Given the description of an element on the screen output the (x, y) to click on. 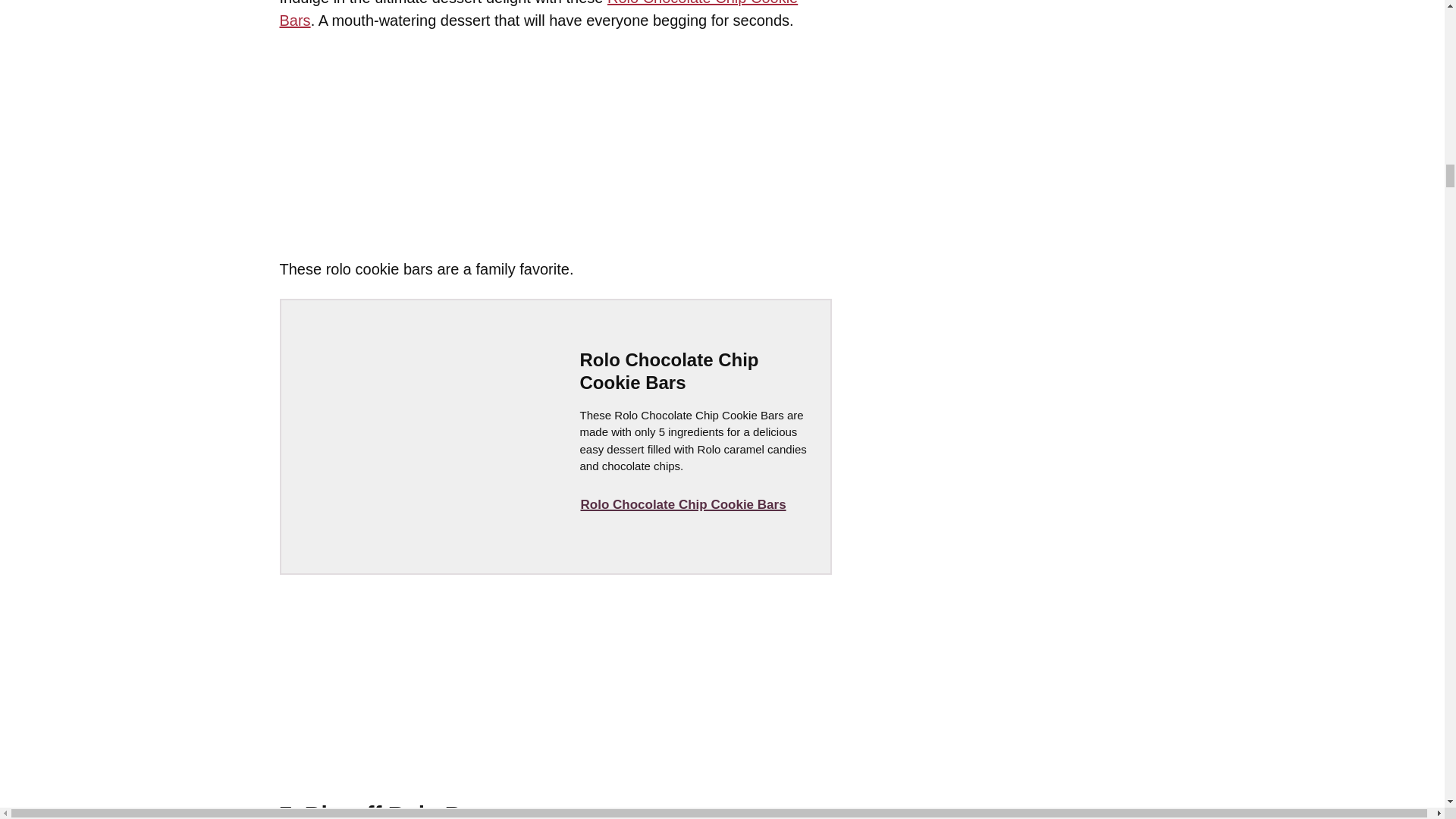
Rolo Chocolate Chip Cookie Bars (538, 14)
Rolo Chocolate Chip Cookie Bars (682, 504)
